Given the description of an element on the screen output the (x, y) to click on. 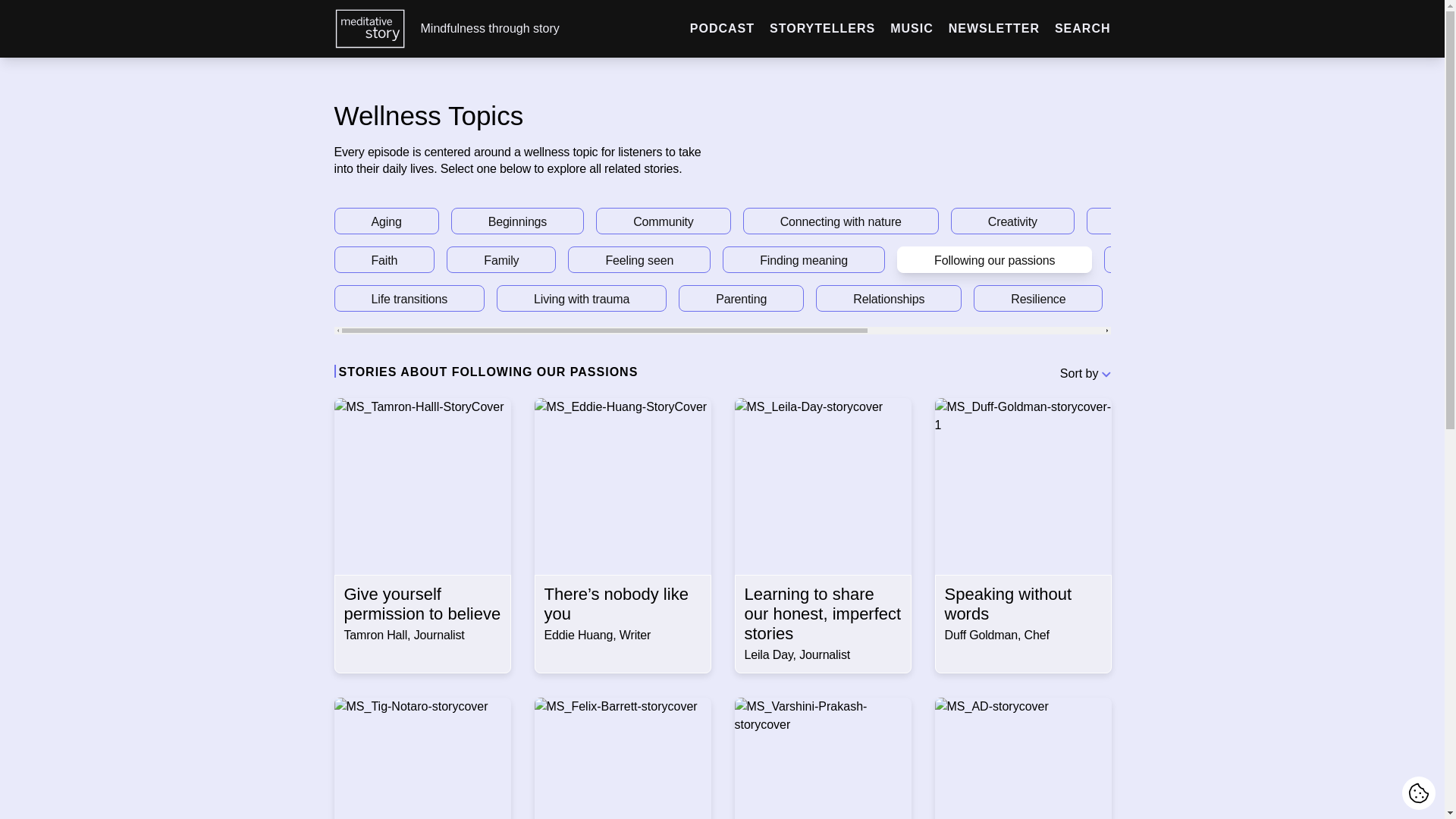
Grief (1153, 259)
Give yourself permission to believe (421, 603)
Parenting (740, 298)
Feeling seen (638, 259)
NEWSLETTER (994, 27)
Relationships (887, 298)
Aging (385, 221)
Resilience (1038, 298)
Connecting with nature (840, 221)
